Given the description of an element on the screen output the (x, y) to click on. 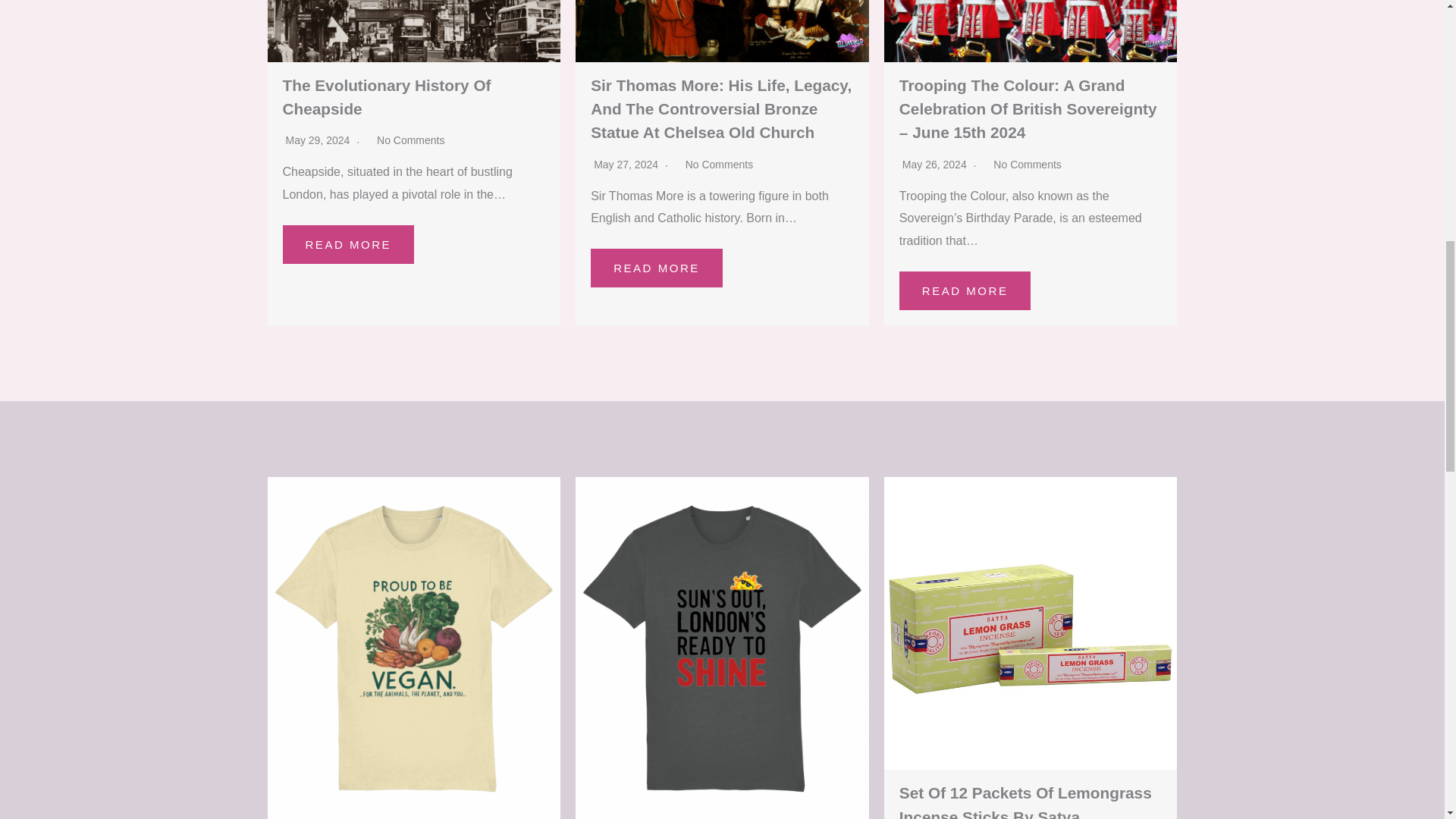
READ MORE (347, 244)
READ MORE (964, 290)
The Evolutionary History Of Cheapside (386, 96)
READ MORE (656, 267)
